Given the description of an element on the screen output the (x, y) to click on. 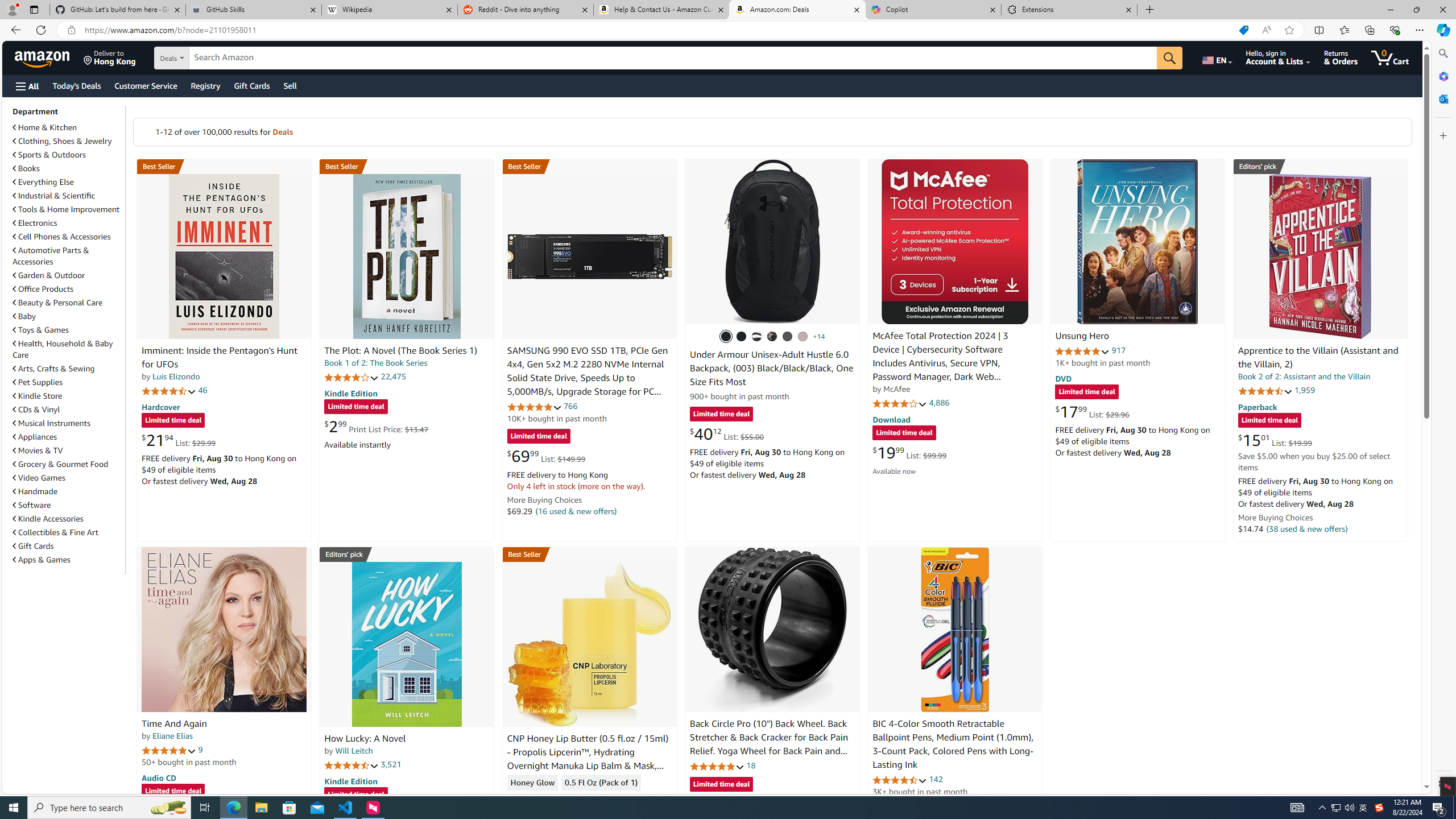
Toys & Games (40, 329)
Garden & Outdoor (49, 275)
Shopping in Microsoft Edge (1243, 29)
CDs & Vinyl (36, 409)
4.2 out of 5 stars (352, 377)
Everything Else (67, 181)
917 (1117, 350)
Arts, Crafts & Sewing (53, 368)
Health, Household & Baby Care (63, 349)
Handmade (67, 491)
Toys & Games (67, 329)
Kindle Store (67, 395)
